Given the description of an element on the screen output the (x, y) to click on. 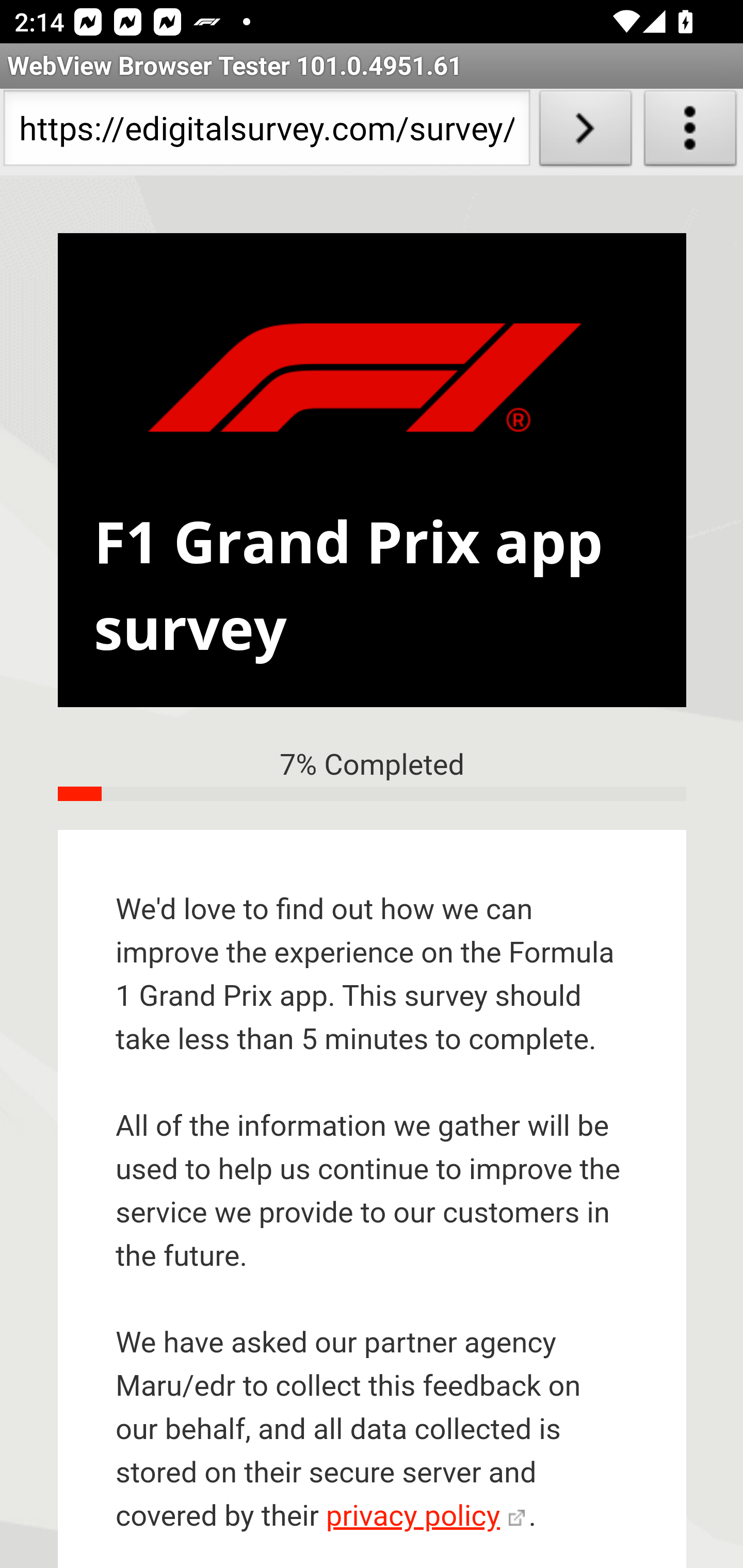
Load URL (585, 132)
About WebView (690, 132)
privacy policy  privacy policy    (425, 1517)
